Given the description of an element on the screen output the (x, y) to click on. 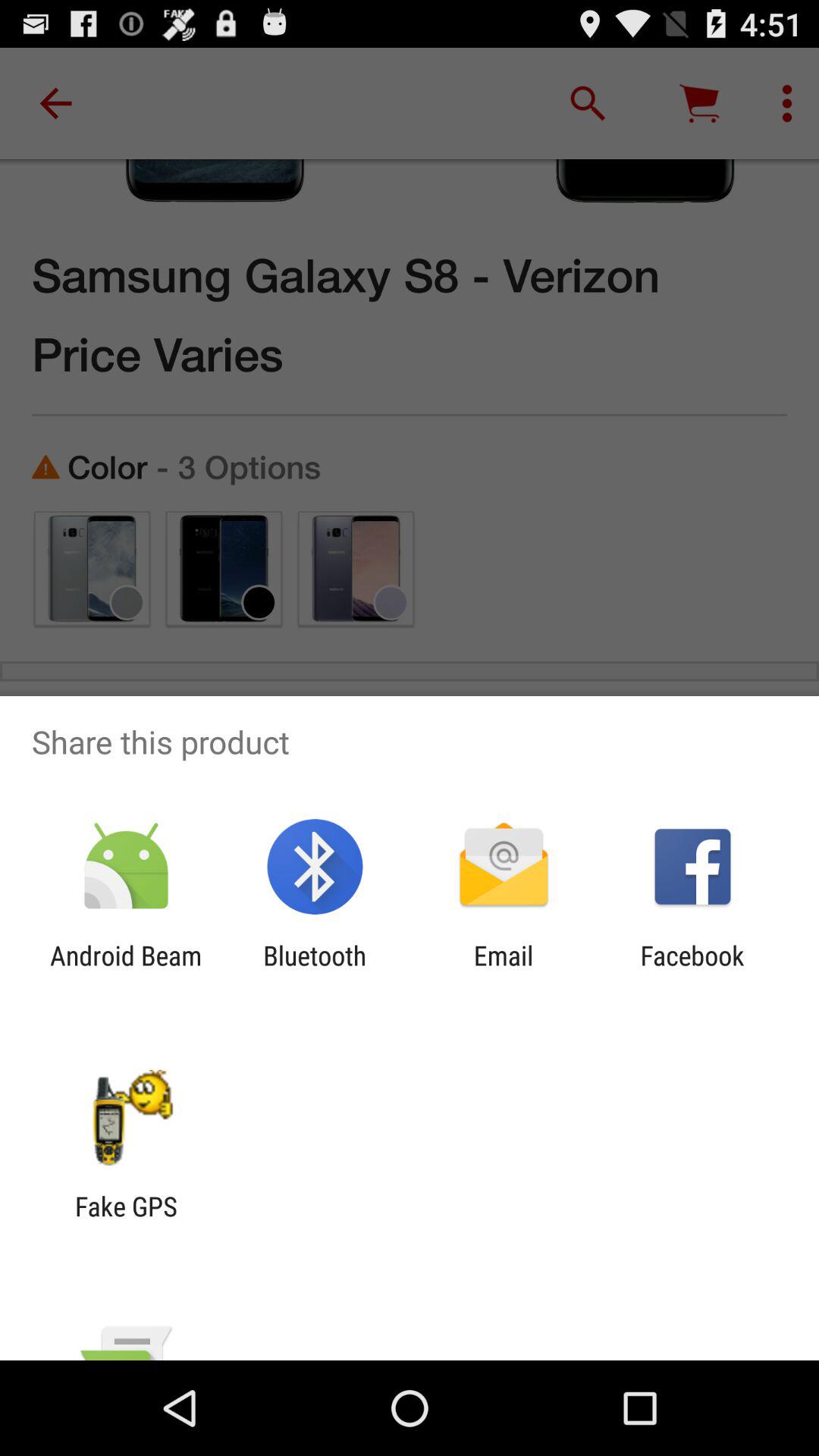
choose android beam icon (125, 971)
